Given the description of an element on the screen output the (x, y) to click on. 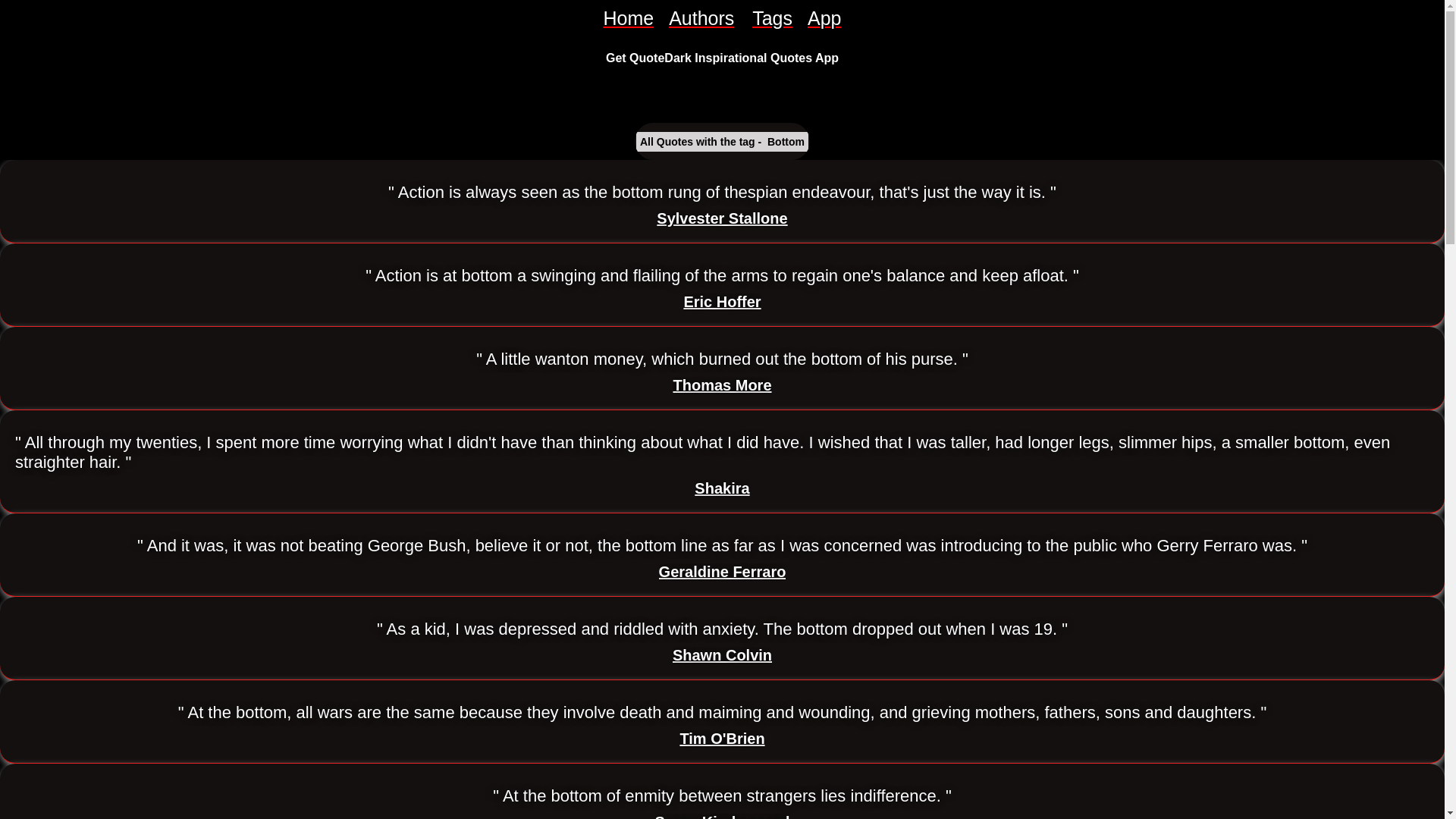
Shawn Colvin (721, 655)
Eric Hoffer (721, 302)
Tags (772, 18)
App (824, 18)
Home (627, 18)
Soren Kierkegaard (722, 816)
